Given the description of an element on the screen output the (x, y) to click on. 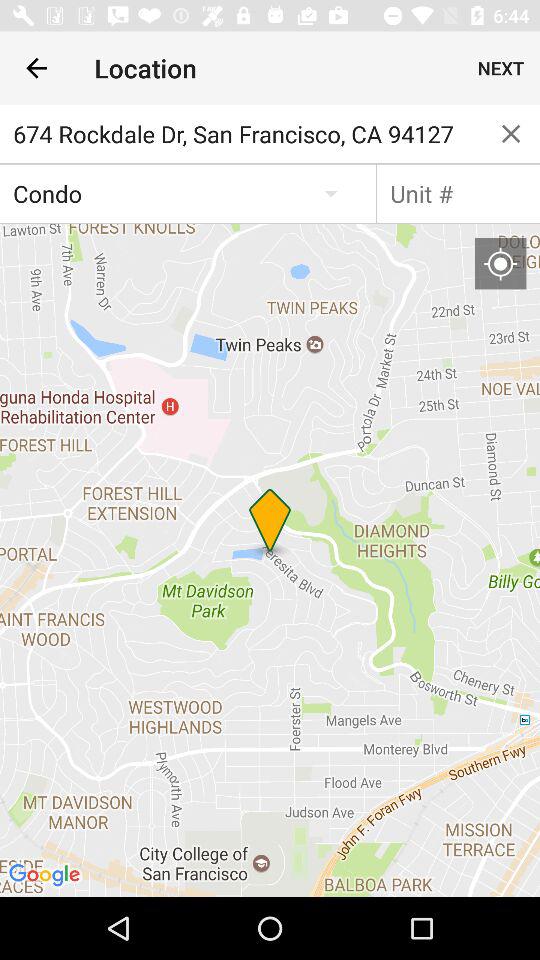
choose the icon to the right of the 674 rockdale dr icon (511, 133)
